Given the description of an element on the screen output the (x, y) to click on. 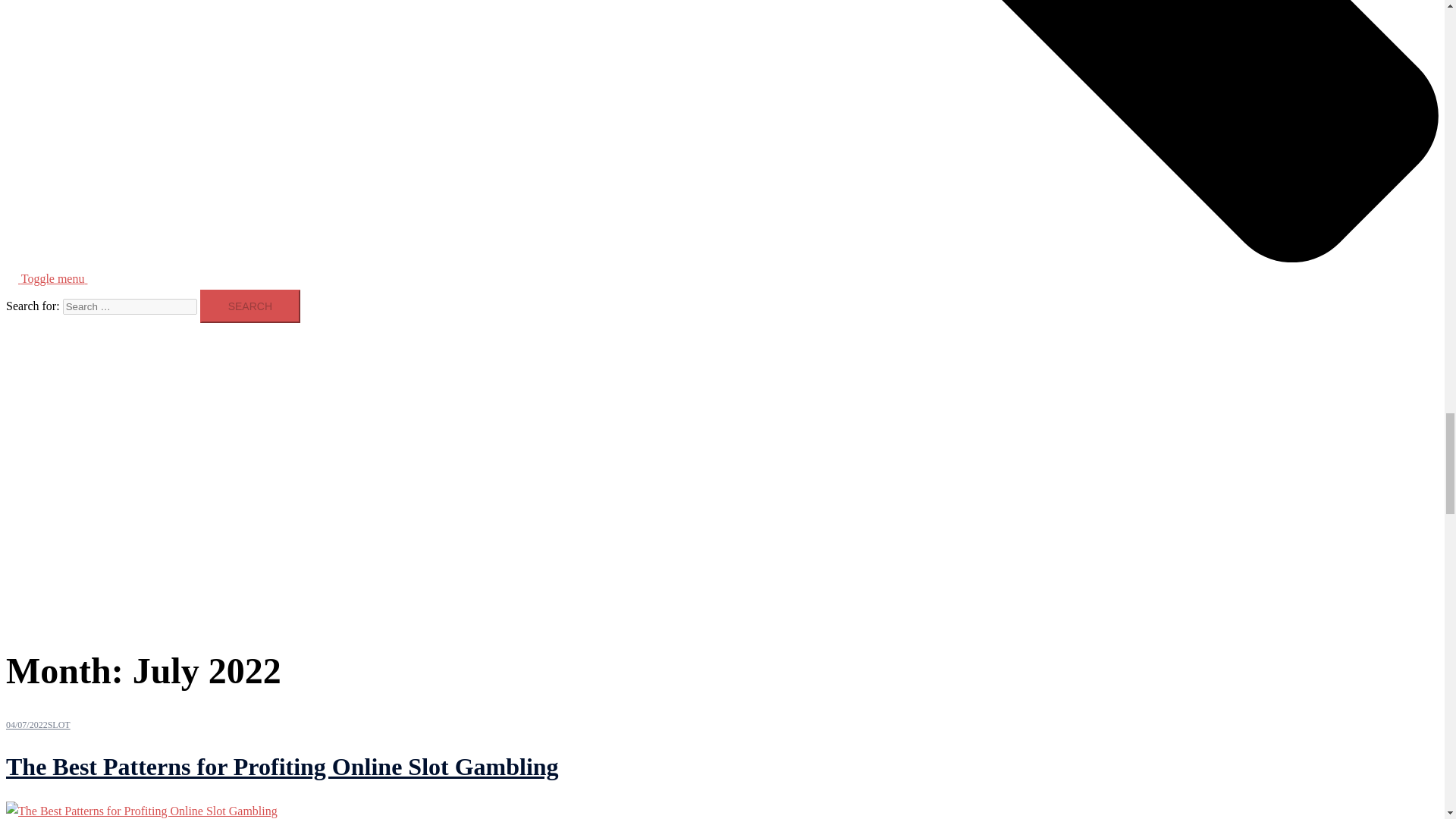
Toggle menu (60, 278)
Search (249, 305)
The Best Patterns for Profiting Online Slot Gambling (141, 810)
Search (249, 305)
Search (249, 305)
The Best Patterns for Profiting Online Slot Gambling (282, 766)
SLOT (58, 724)
